Given the description of an element on the screen output the (x, y) to click on. 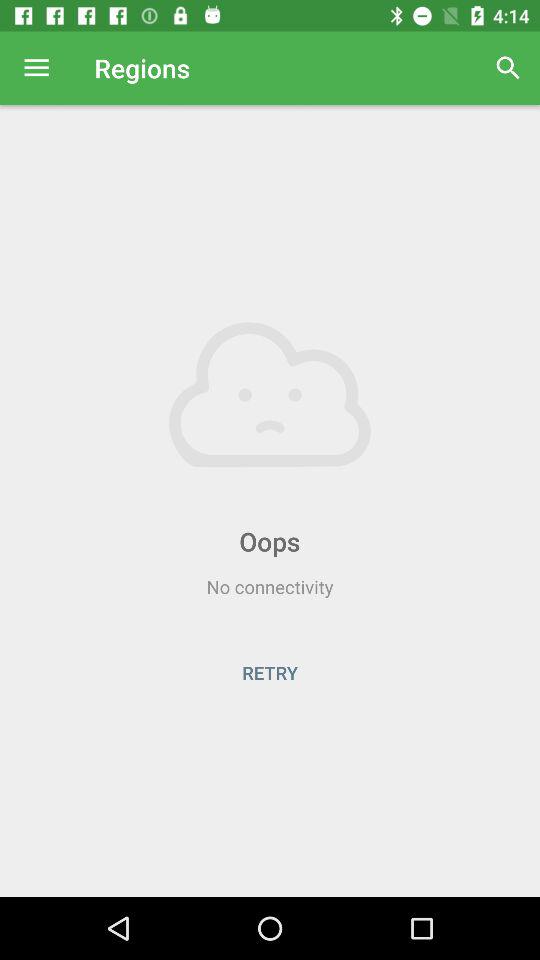
launch the retry (269, 672)
